Given the description of an element on the screen output the (x, y) to click on. 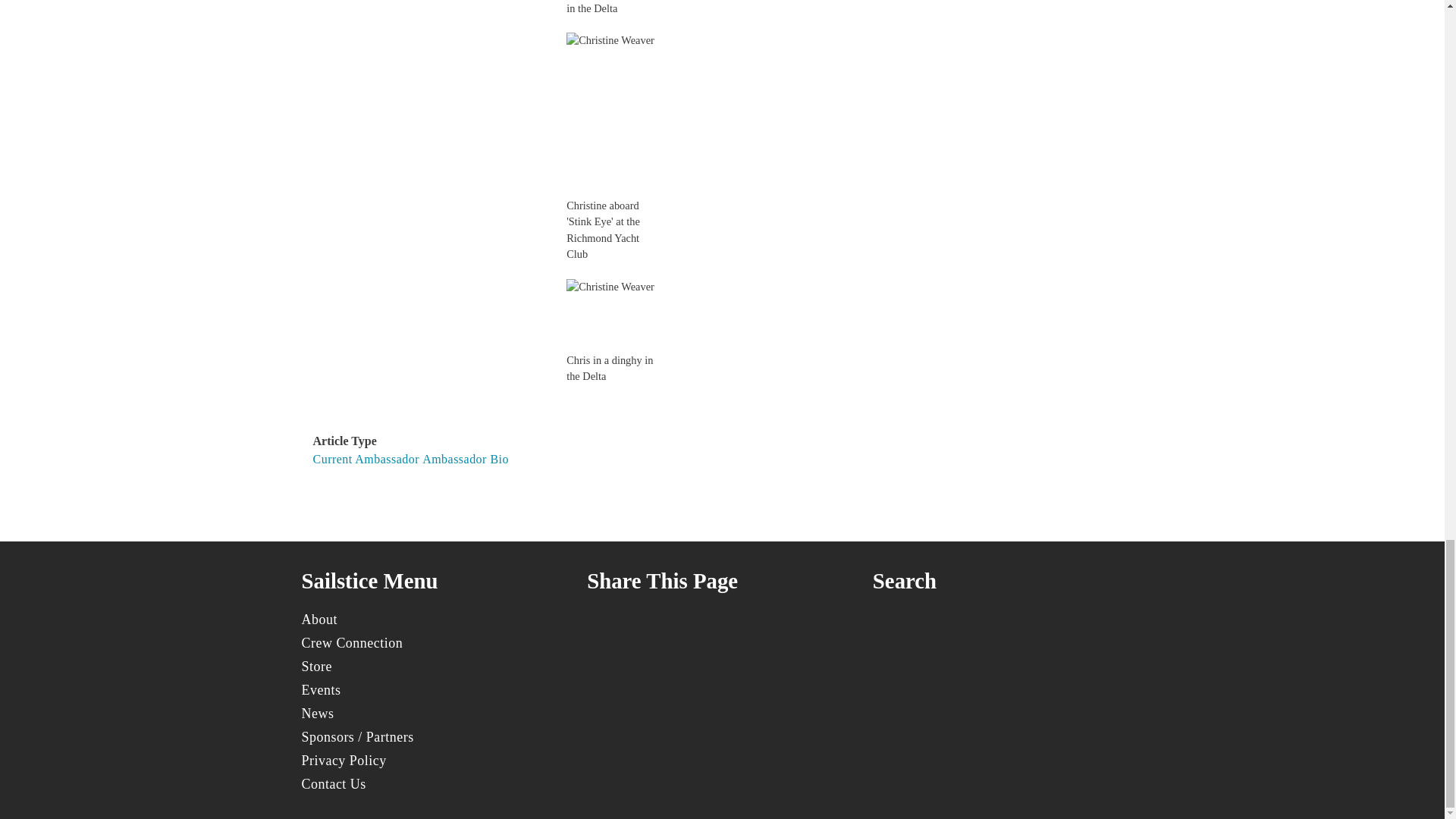
Ambassador Bio (465, 459)
Current Ambassador (366, 459)
